Given the description of an element on the screen output the (x, y) to click on. 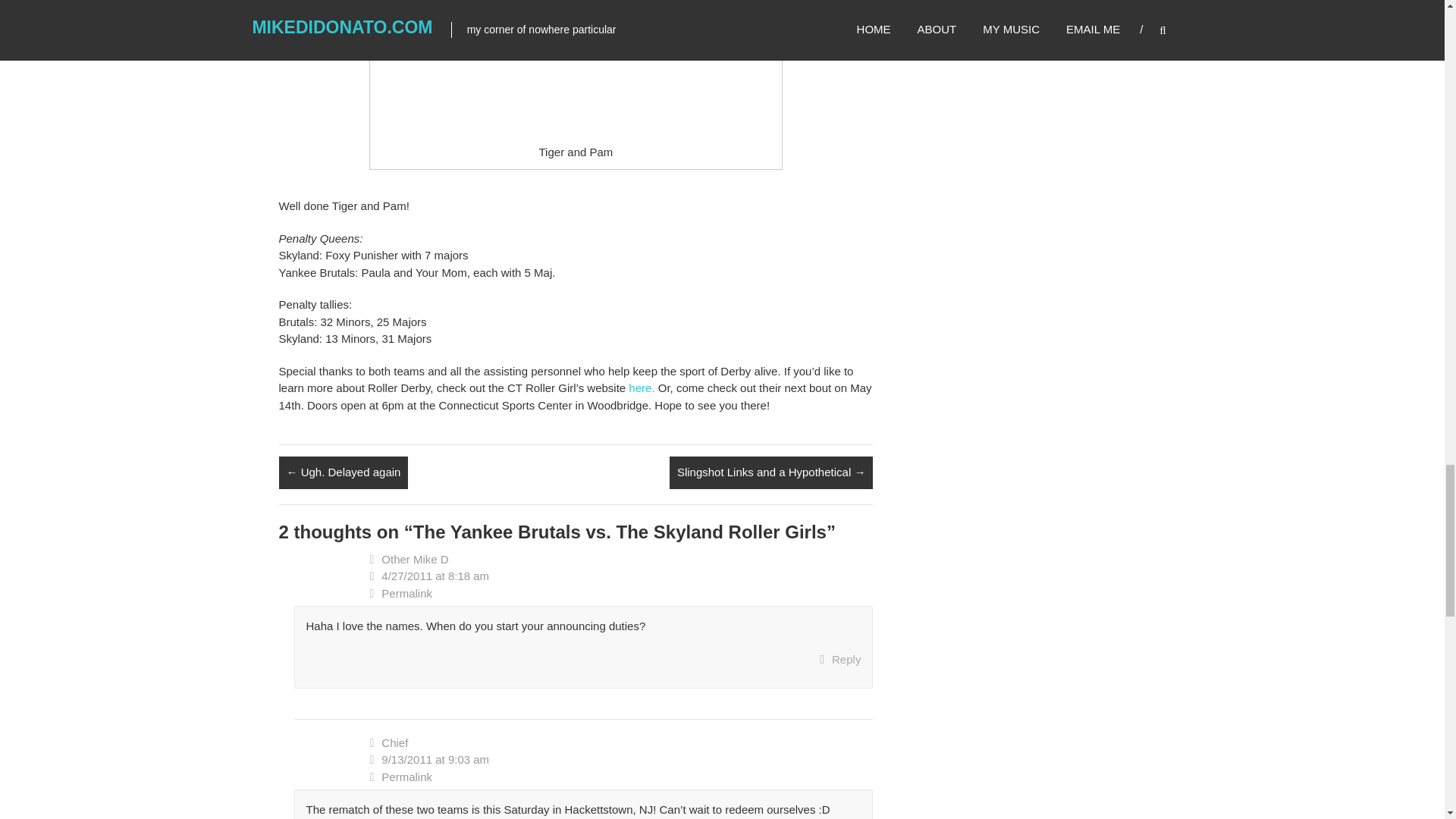
PamNTiger (575, 68)
Chief (394, 742)
Permalink (621, 593)
here. (640, 387)
Reply (839, 659)
Permalink (621, 777)
